Given the description of an element on the screen output the (x, y) to click on. 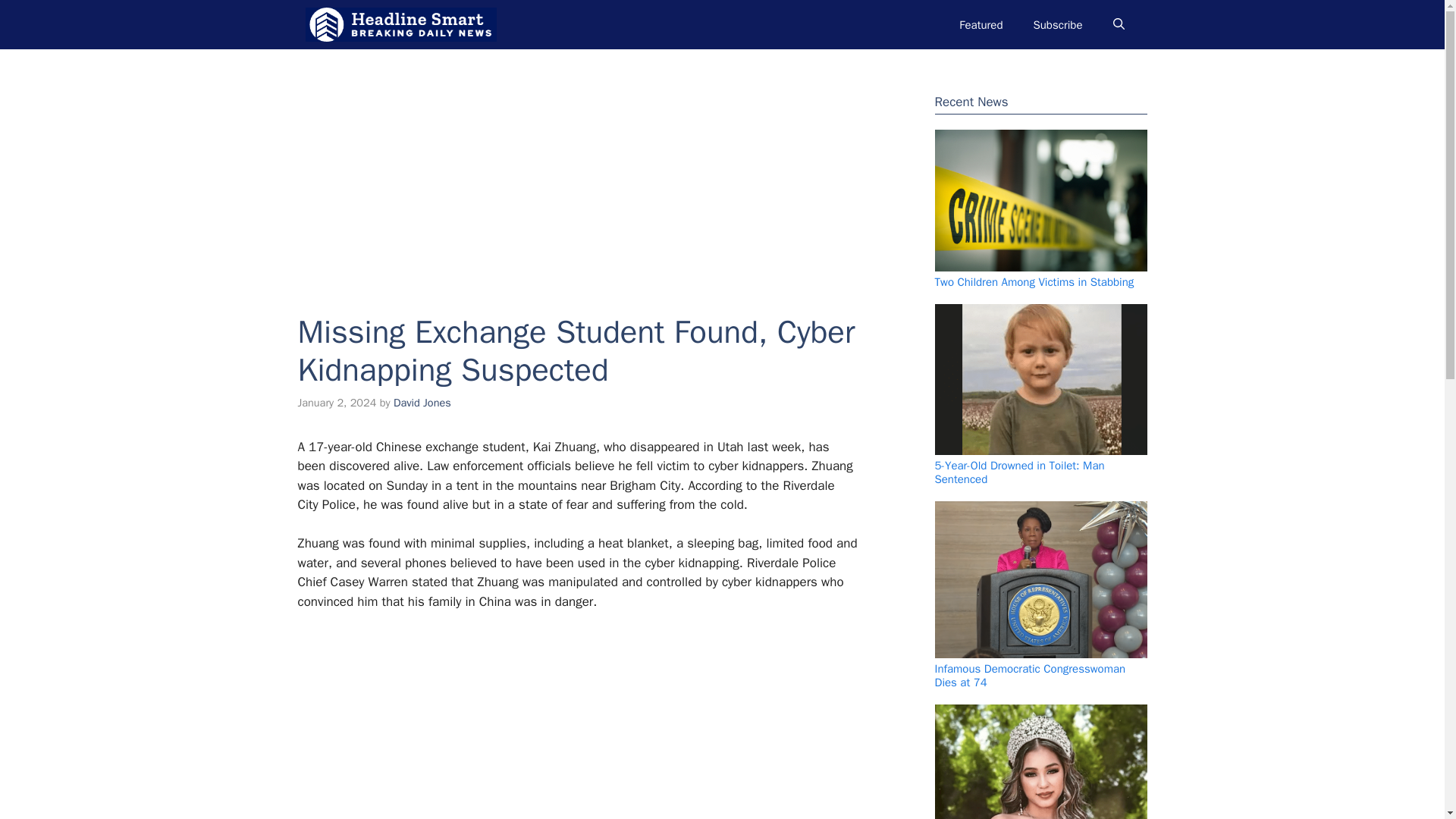
Advertisement (577, 170)
Headline Smart (400, 24)
View all posts by David Jones (422, 402)
Infamous Democratic Congresswoman Dies at 74 (1029, 675)
Advertisement (570, 724)
5-Year-Old Drowned in Toilet: Man Sentenced (1018, 472)
Featured (980, 23)
Two Children Among Victims in Stabbing (1034, 282)
David Jones (422, 402)
Subscribe (1057, 23)
